Given the description of an element on the screen output the (x, y) to click on. 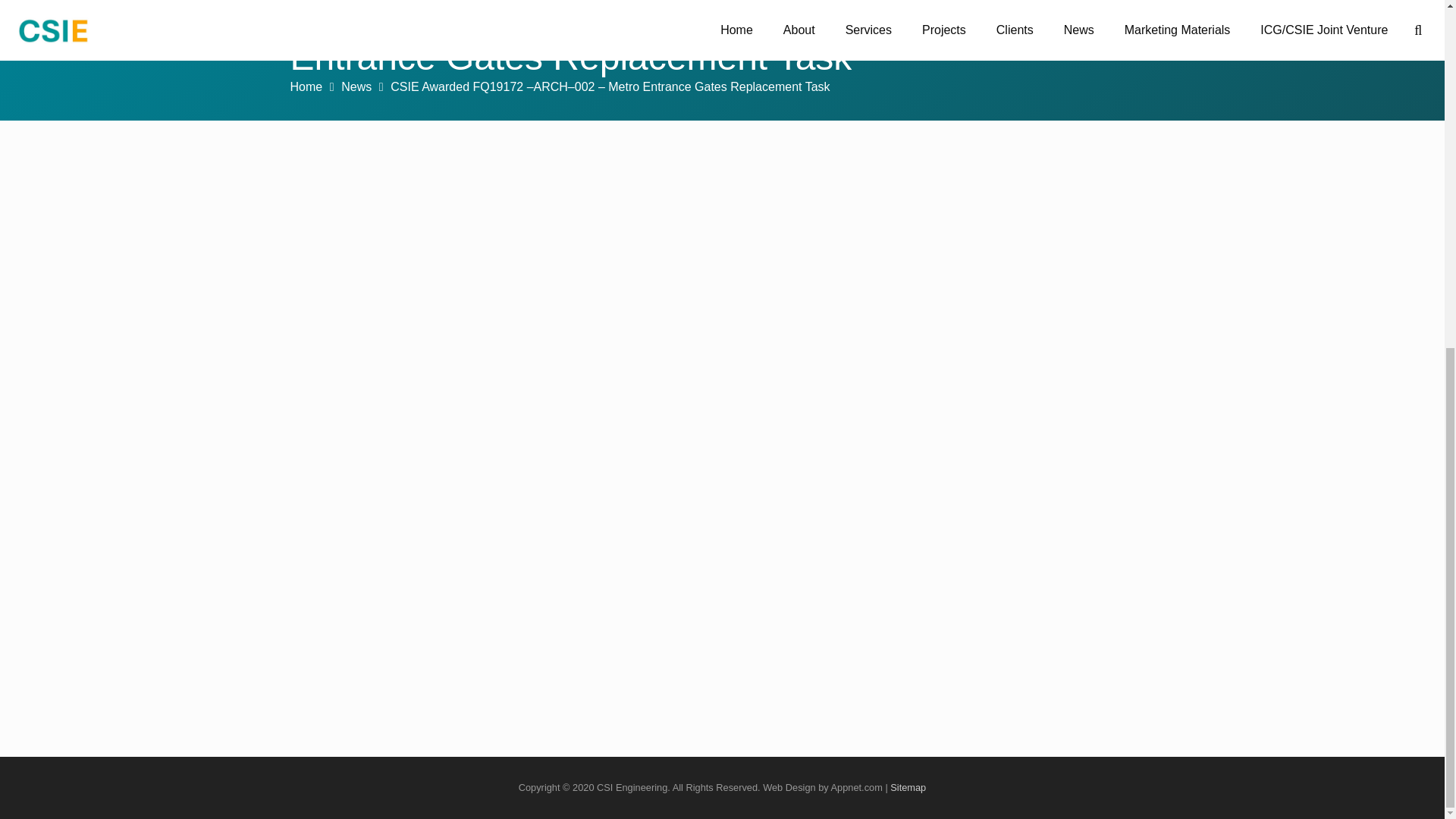
Home (305, 86)
Back to top (1413, 249)
News (355, 86)
Sitemap (907, 787)
